Given the description of an element on the screen output the (x, y) to click on. 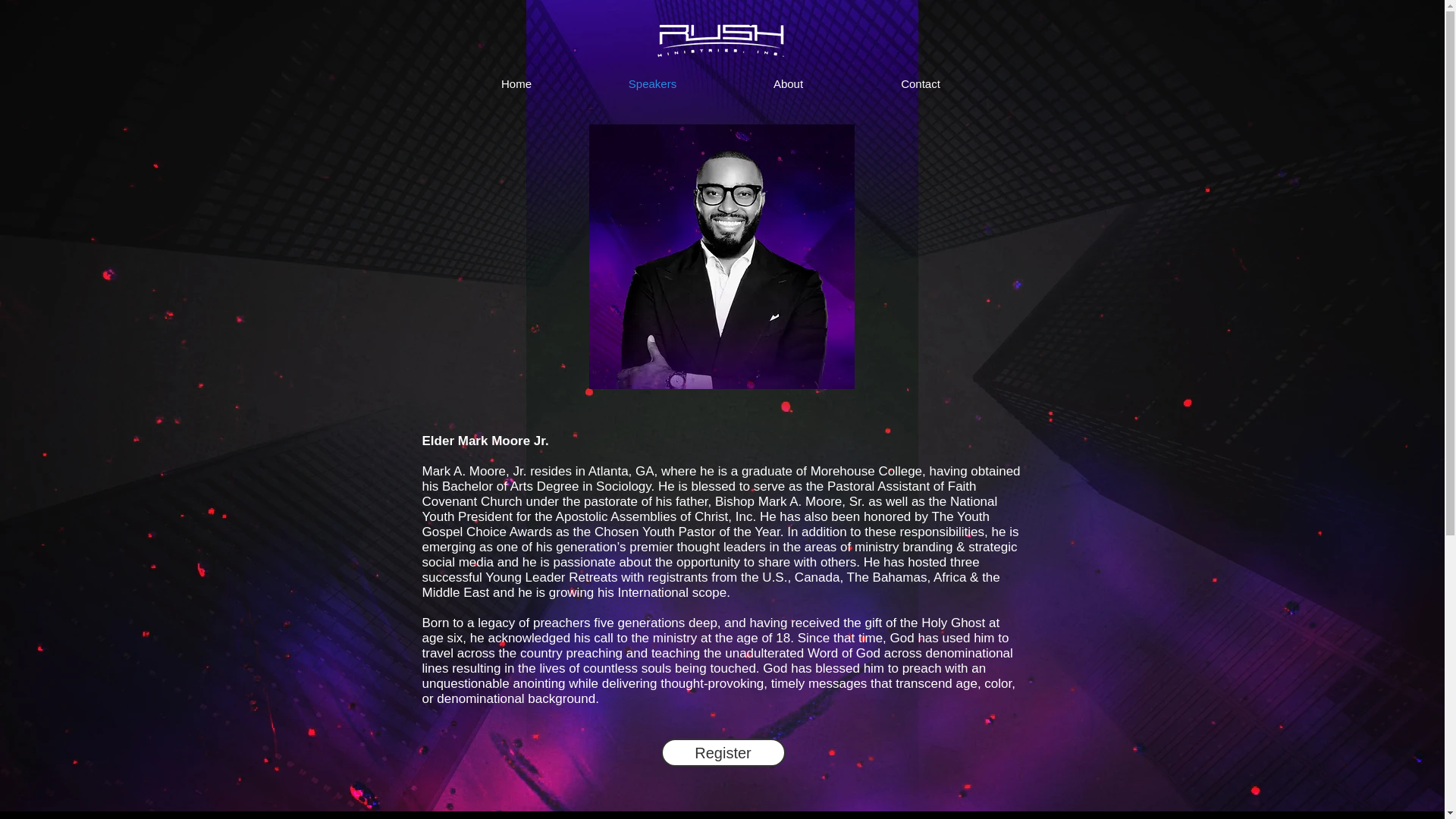
Home (515, 84)
About (788, 84)
Speakers (652, 84)
Register (723, 752)
Contact (920, 84)
